Given the description of an element on the screen output the (x, y) to click on. 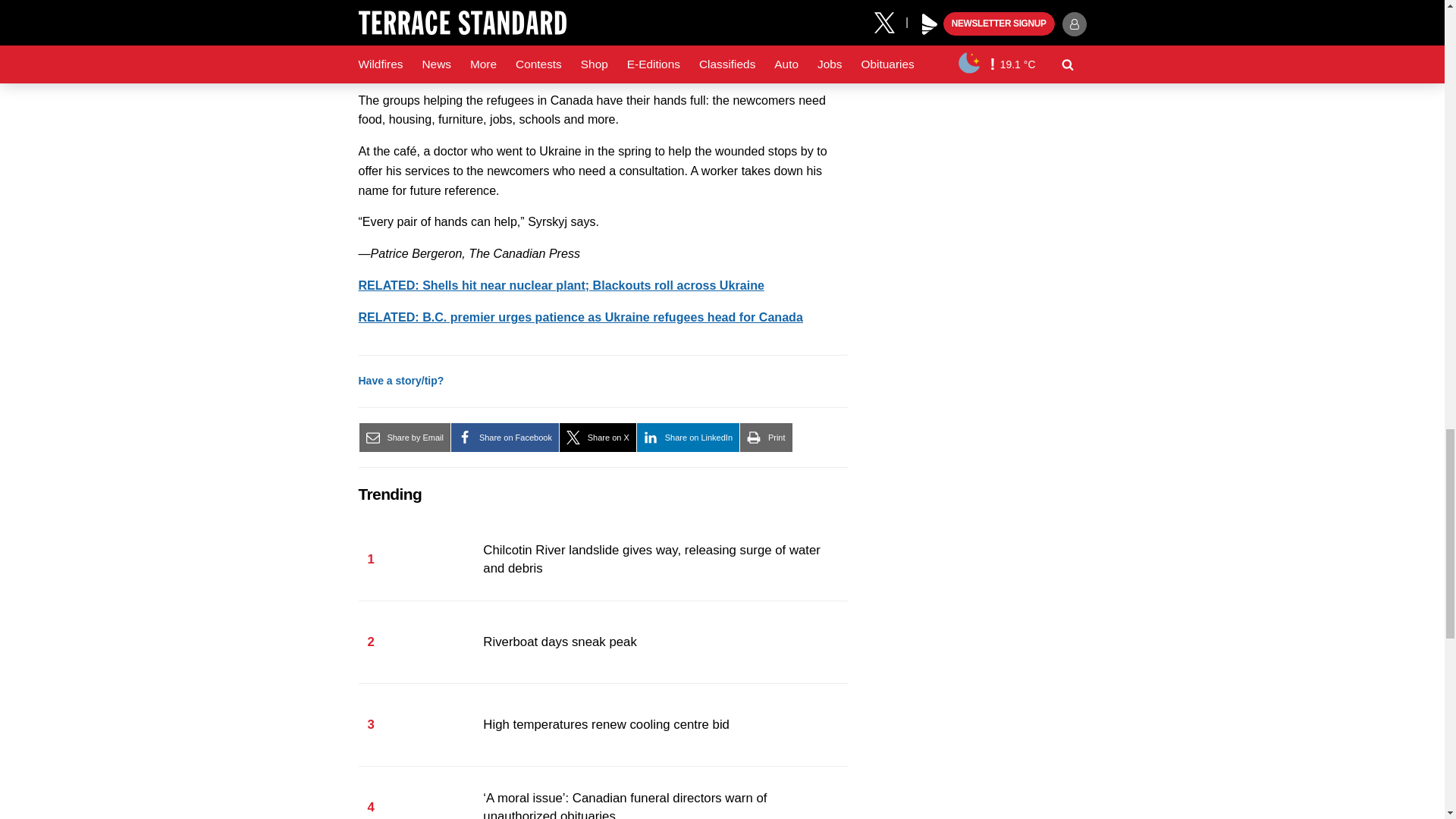
related story (560, 284)
related story (580, 316)
